Given the description of an element on the screen output the (x, y) to click on. 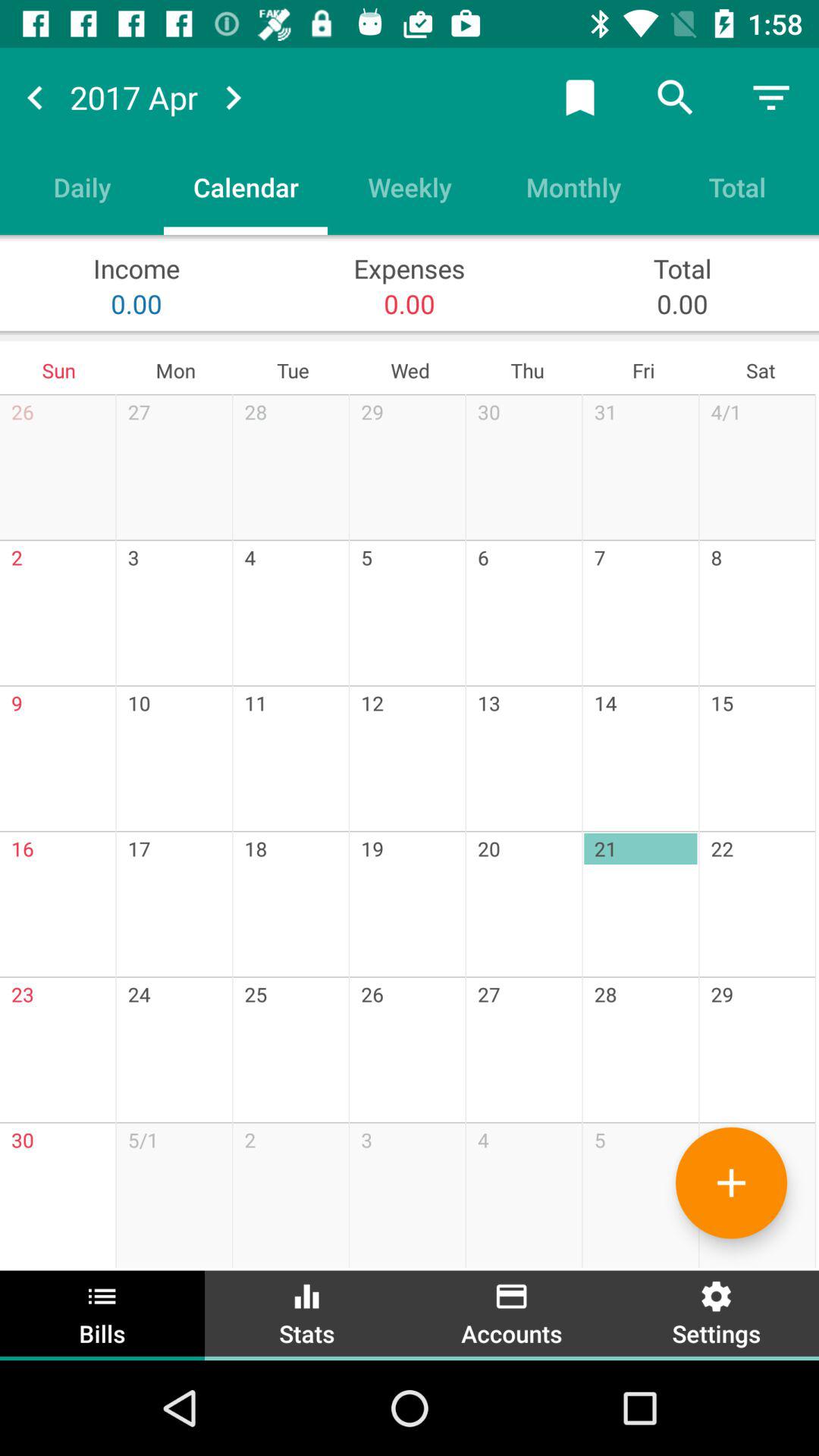
flip until the daily (81, 186)
